Given the description of an element on the screen output the (x, y) to click on. 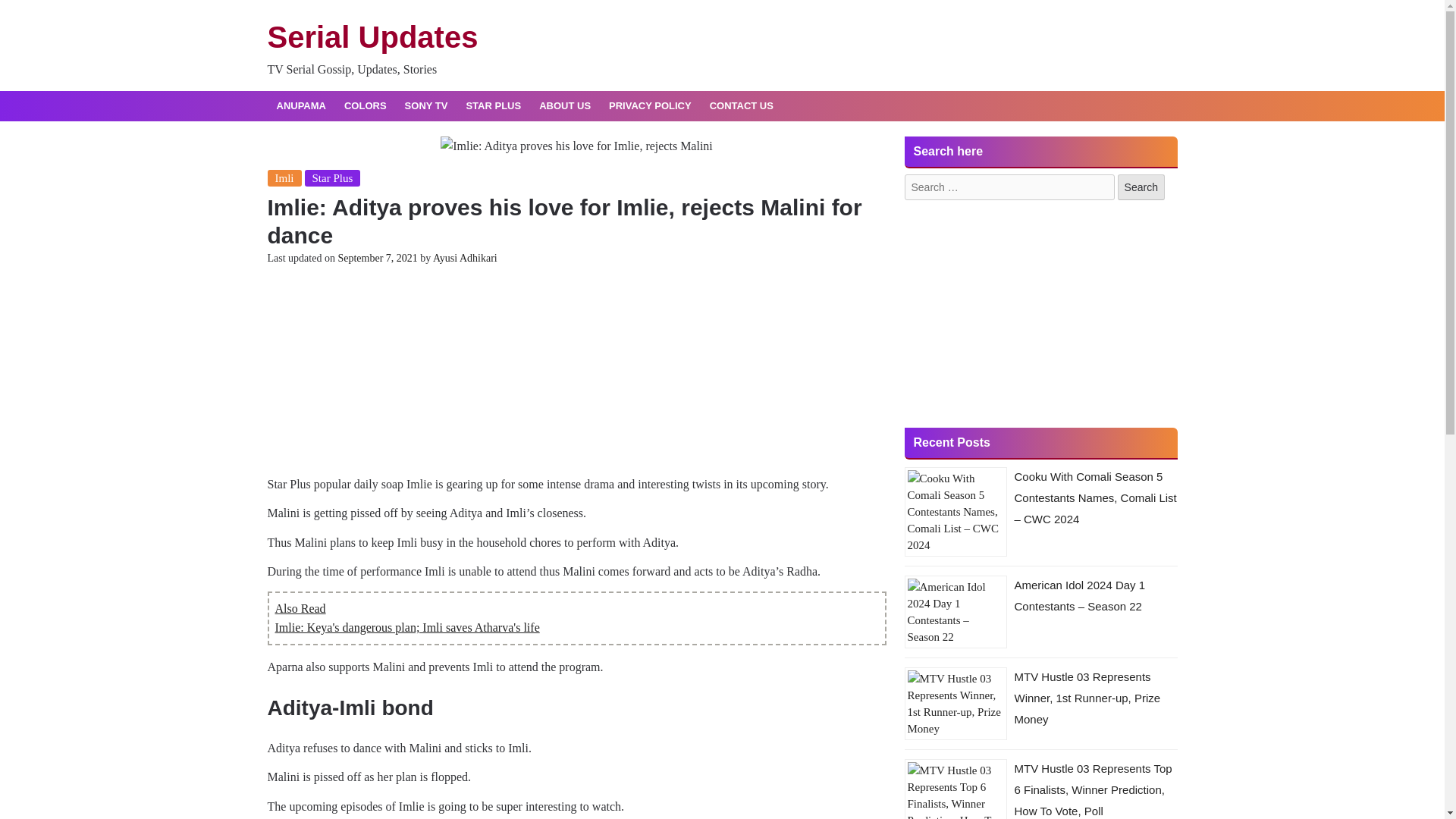
Advertisement (1040, 165)
Search (1142, 244)
SONY TV (417, 106)
Serial Updates (371, 37)
STAR PLUS (483, 106)
Star Plus (332, 519)
PRIVACY POLICY (641, 106)
Imli (283, 519)
CONTACT US (732, 106)
MTV Hustle 03 Represents Winner, 1st Runner-up, Prize Money (1087, 739)
Advertisement (575, 719)
Search (1142, 244)
Advertisement (1040, 385)
ABOUT US (556, 106)
